Given the description of an element on the screen output the (x, y) to click on. 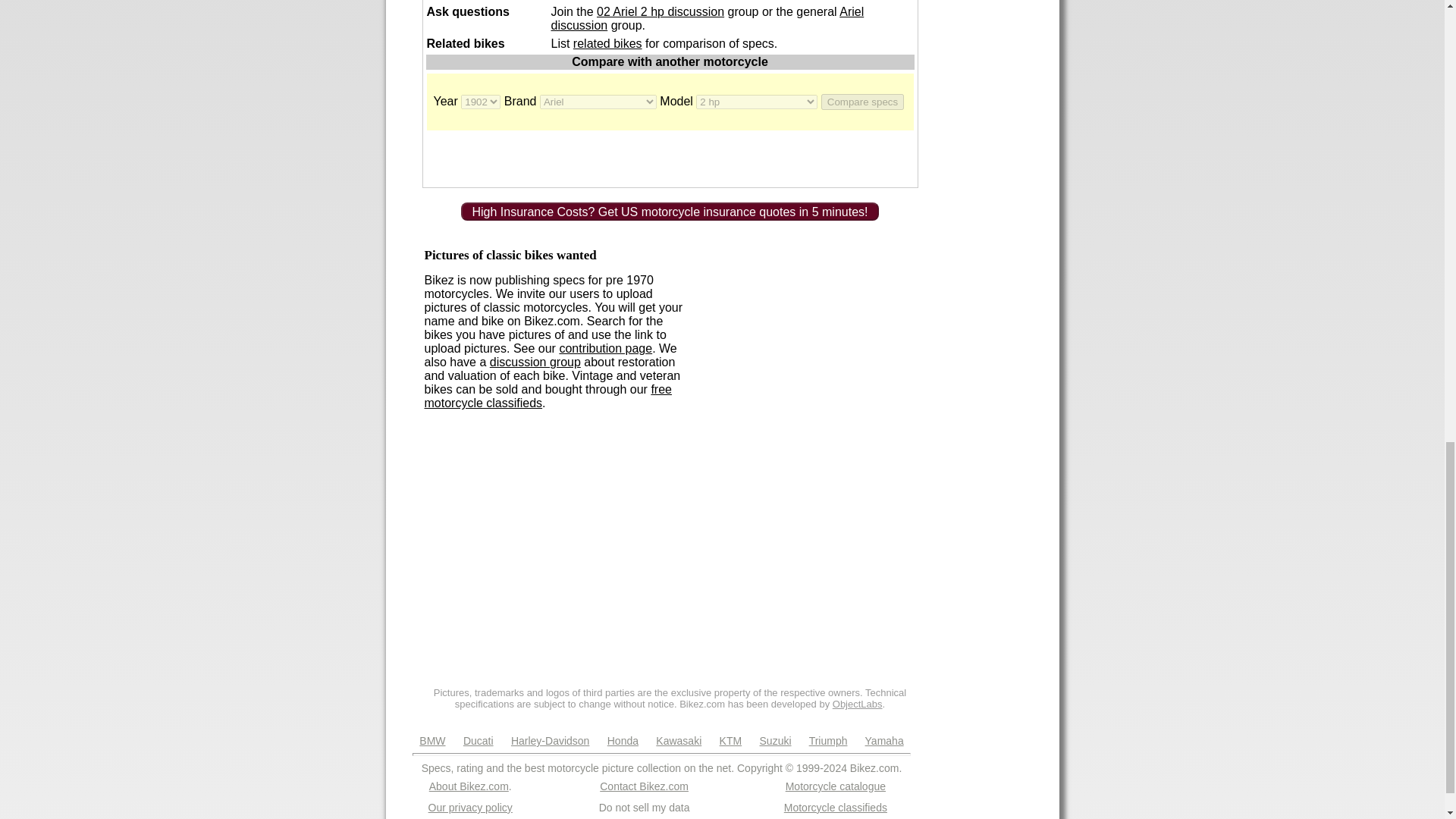
Compare specs (862, 101)
